Given the description of an element on the screen output the (x, y) to click on. 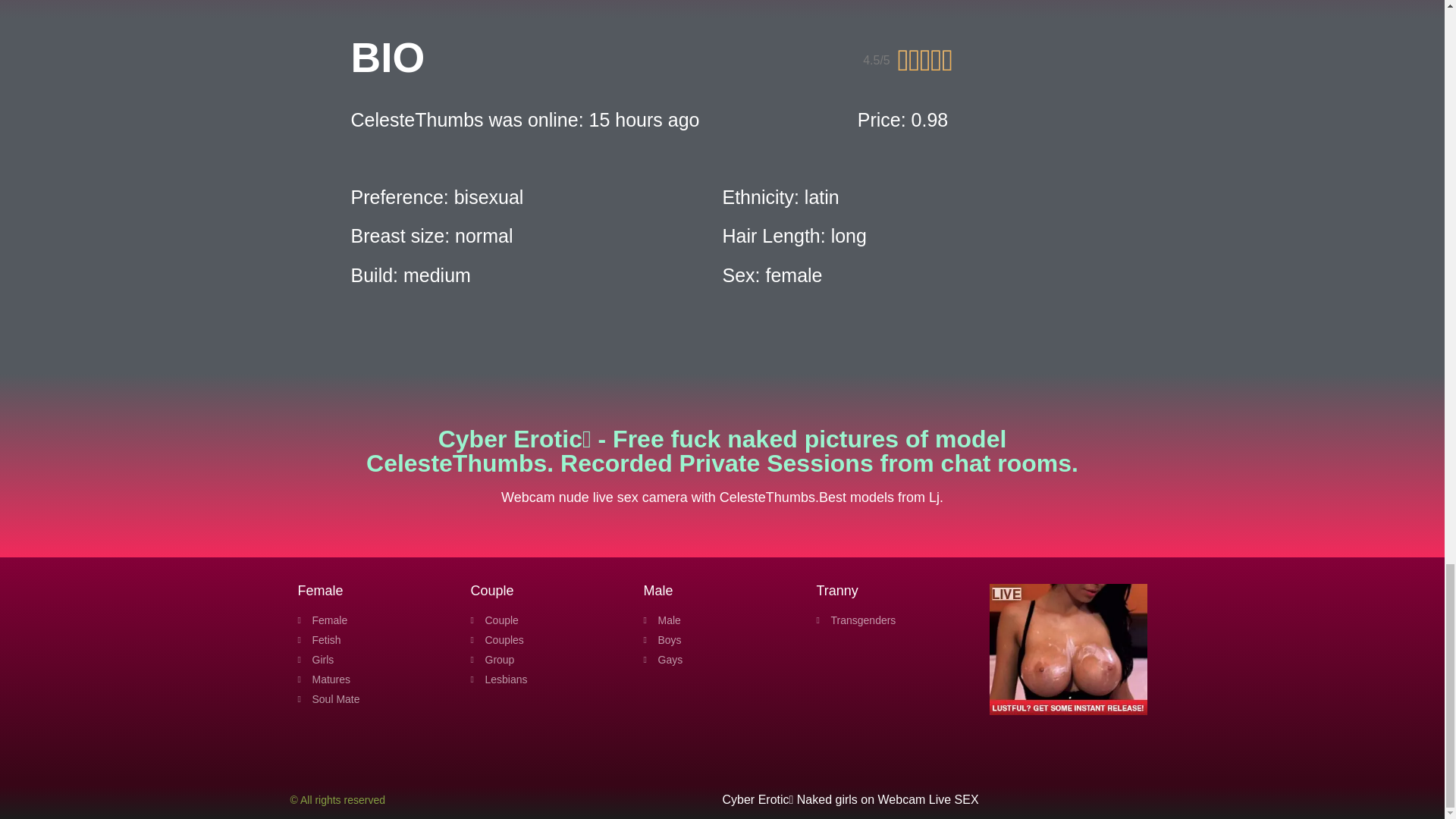
Female (375, 620)
Fetish (375, 640)
